Given the description of an element on the screen output the (x, y) to click on. 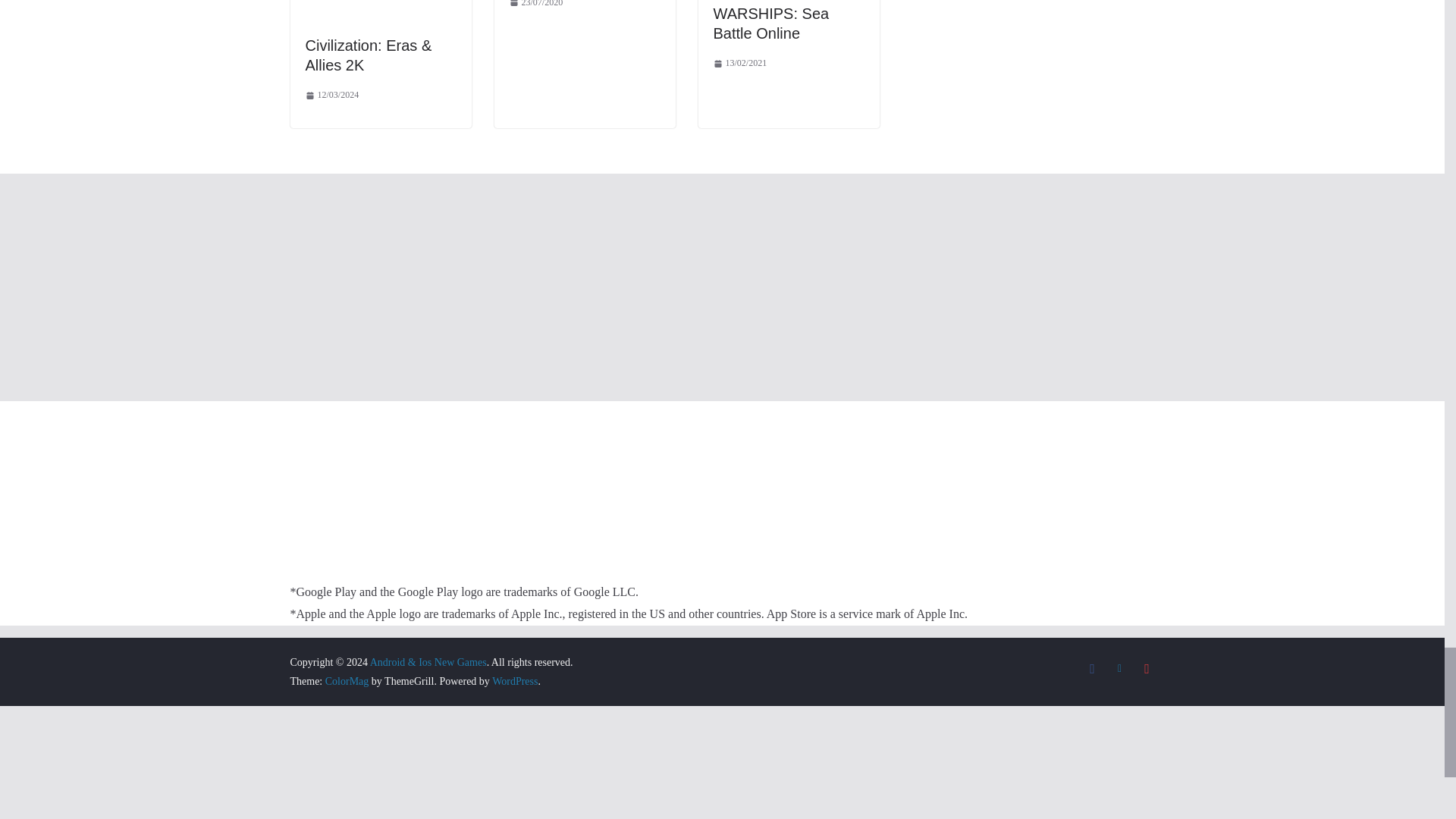
19:03 (331, 95)
